Given the description of an element on the screen output the (x, y) to click on. 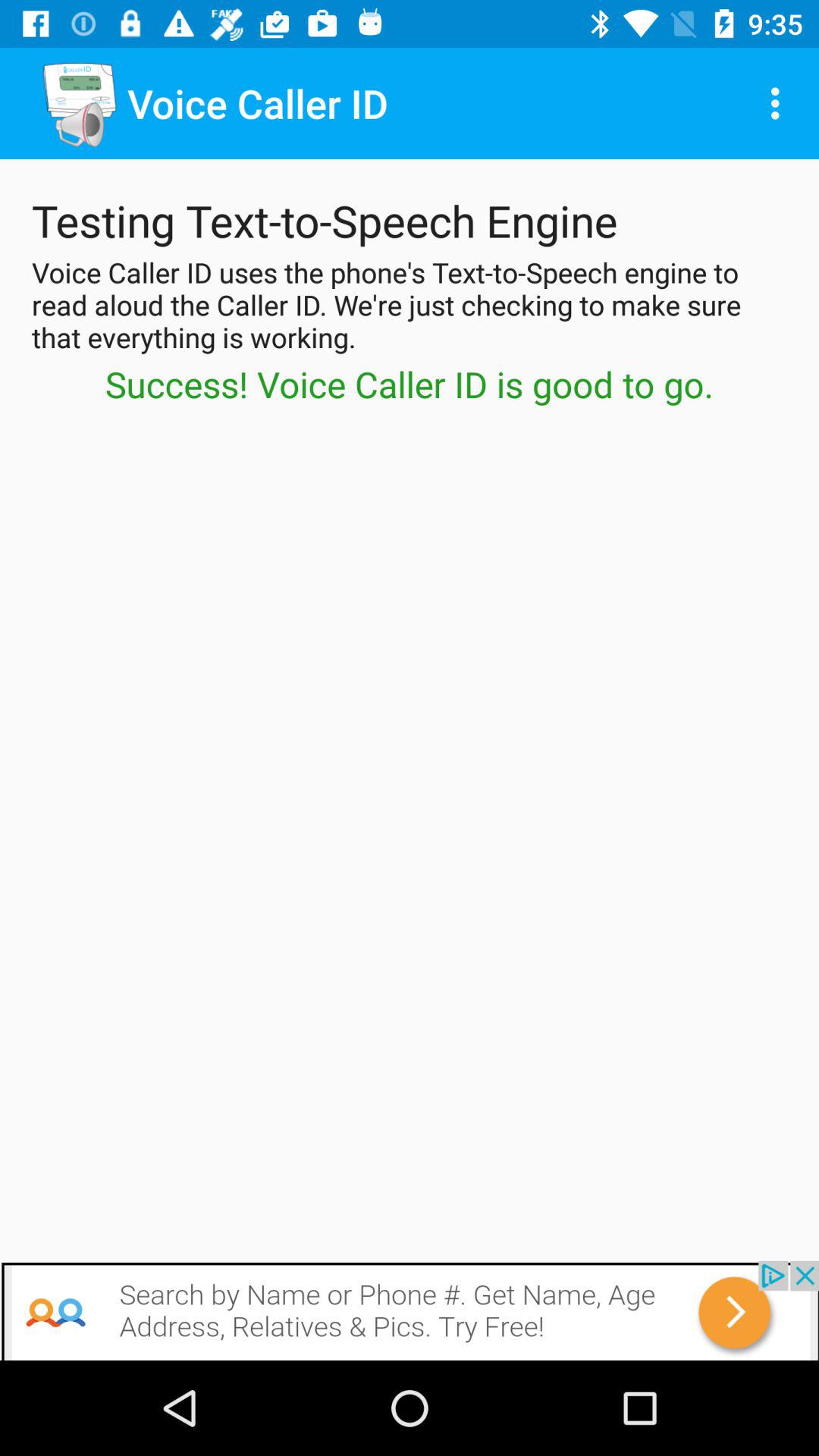
open webpage of displayed advertisement (409, 1310)
